Given the description of an element on the screen output the (x, y) to click on. 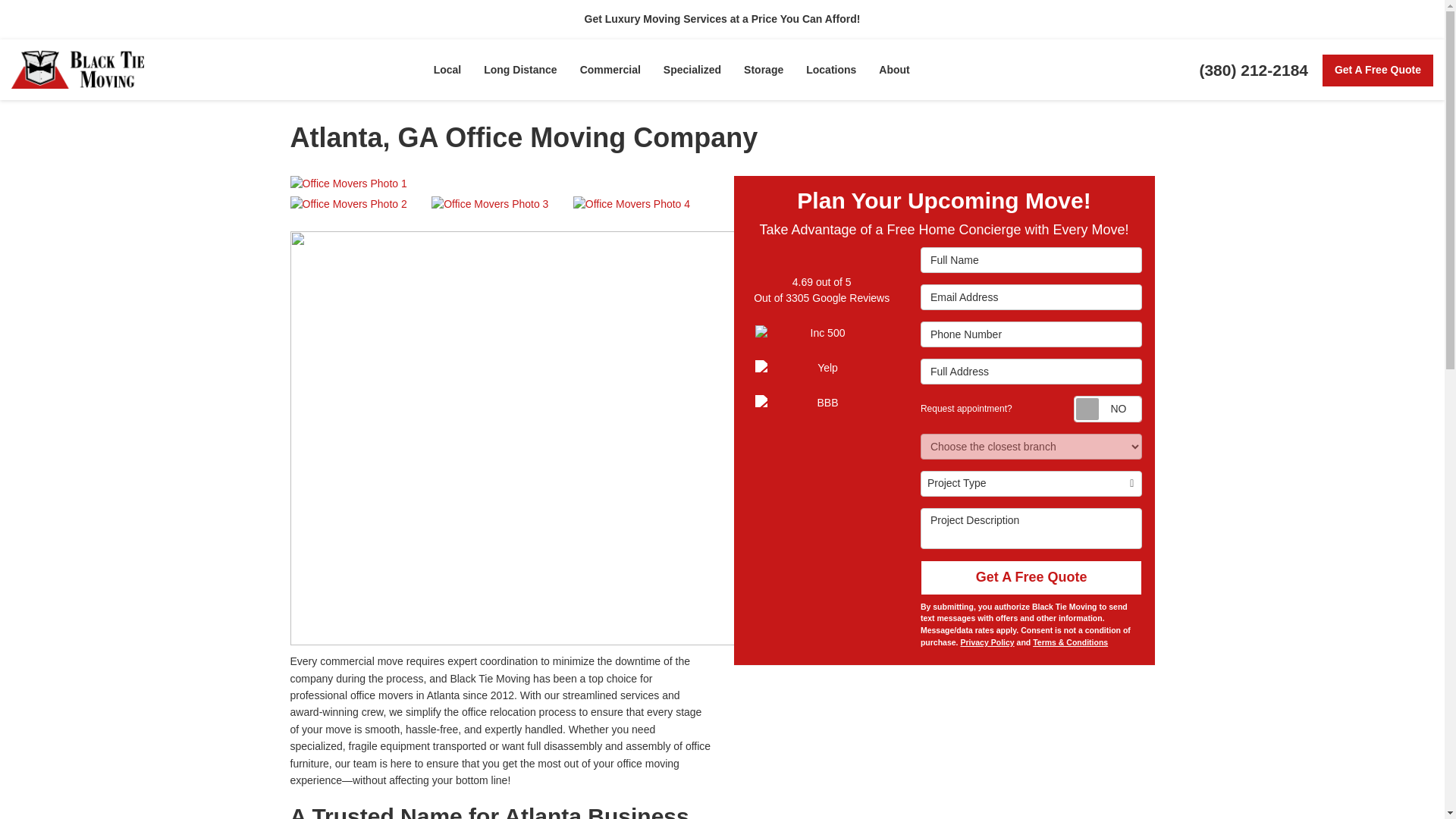
Commercial (610, 69)
Storage (763, 69)
Get A Free Quote (1377, 70)
Get A Free Quote (1377, 70)
Long Distance (519, 69)
Specialized (692, 69)
Locations (830, 69)
